Given the description of an element on the screen output the (x, y) to click on. 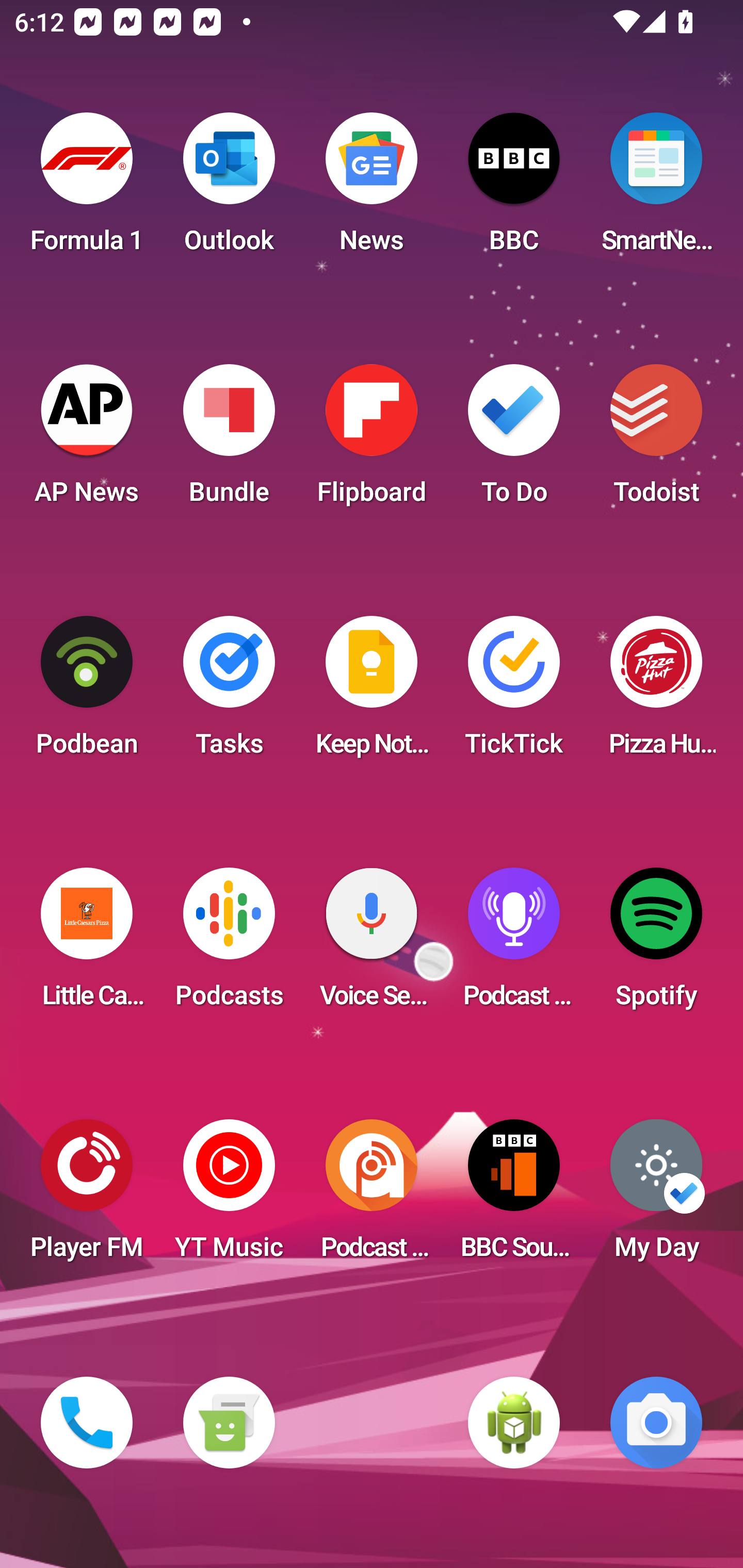
Formula 1 (86, 188)
Outlook (228, 188)
News (371, 188)
BBC (513, 188)
SmartNews (656, 188)
AP News (86, 440)
Bundle (228, 440)
Flipboard (371, 440)
To Do (513, 440)
Todoist (656, 440)
Podbean (86, 692)
Tasks (228, 692)
Keep Notes (371, 692)
TickTick (513, 692)
Pizza Hut HK & Macau (656, 692)
Little Caesars Pizza (86, 943)
Podcasts (228, 943)
Voice Search (371, 943)
Podcast Player (513, 943)
Spotify (656, 943)
Player FM (86, 1195)
YT Music (228, 1195)
Podcast Addict (371, 1195)
BBC Sounds (513, 1195)
My Day (656, 1195)
Phone (86, 1422)
Messaging (228, 1422)
WebView Browser Tester (513, 1422)
Camera (656, 1422)
